Given the description of an element on the screen output the (x, y) to click on. 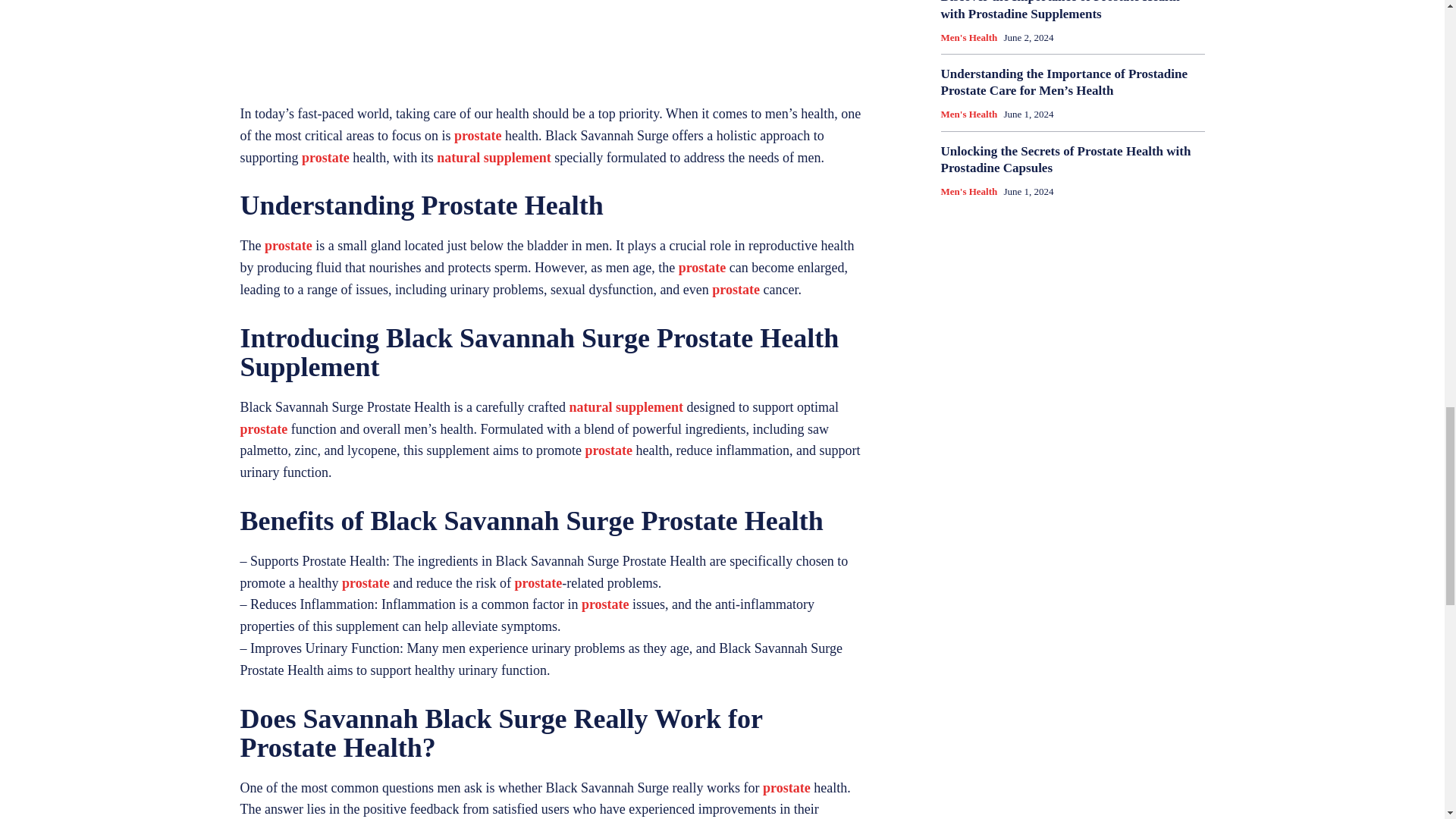
natural supplement (626, 406)
natural supplement (493, 157)
prostate (288, 245)
prostate (325, 157)
prostate (735, 289)
prostate (478, 135)
prostate (702, 267)
